Given the description of an element on the screen output the (x, y) to click on. 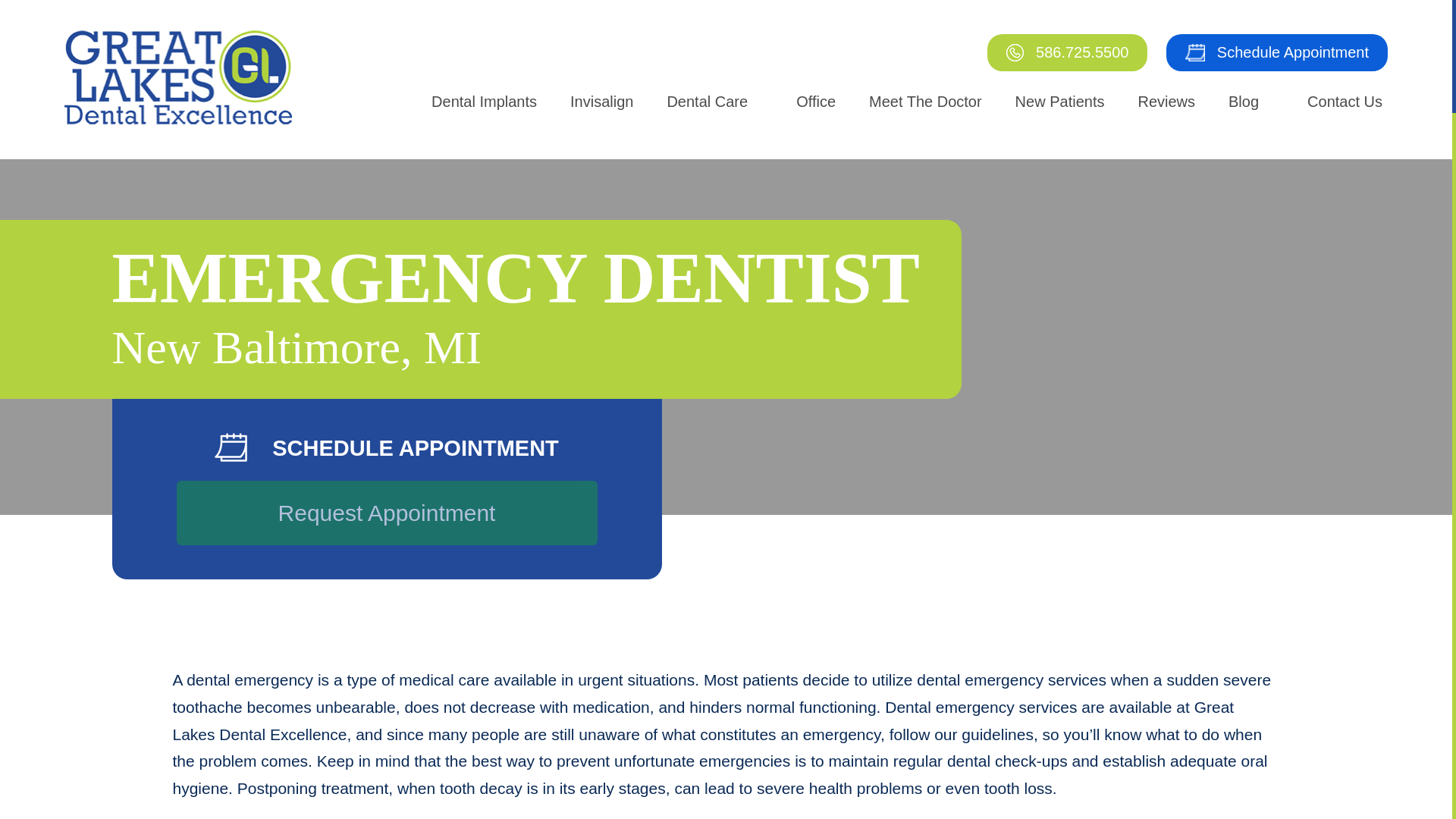
Dental Care (706, 101)
Schedule Appointment (1276, 52)
586.725.5500 (1067, 52)
Blog (1243, 101)
Meet The Doctor (925, 101)
Office (815, 101)
Invisalign (601, 101)
Reviews (1165, 101)
New Patients (1059, 101)
Dental Implants (483, 101)
